Given the description of an element on the screen output the (x, y) to click on. 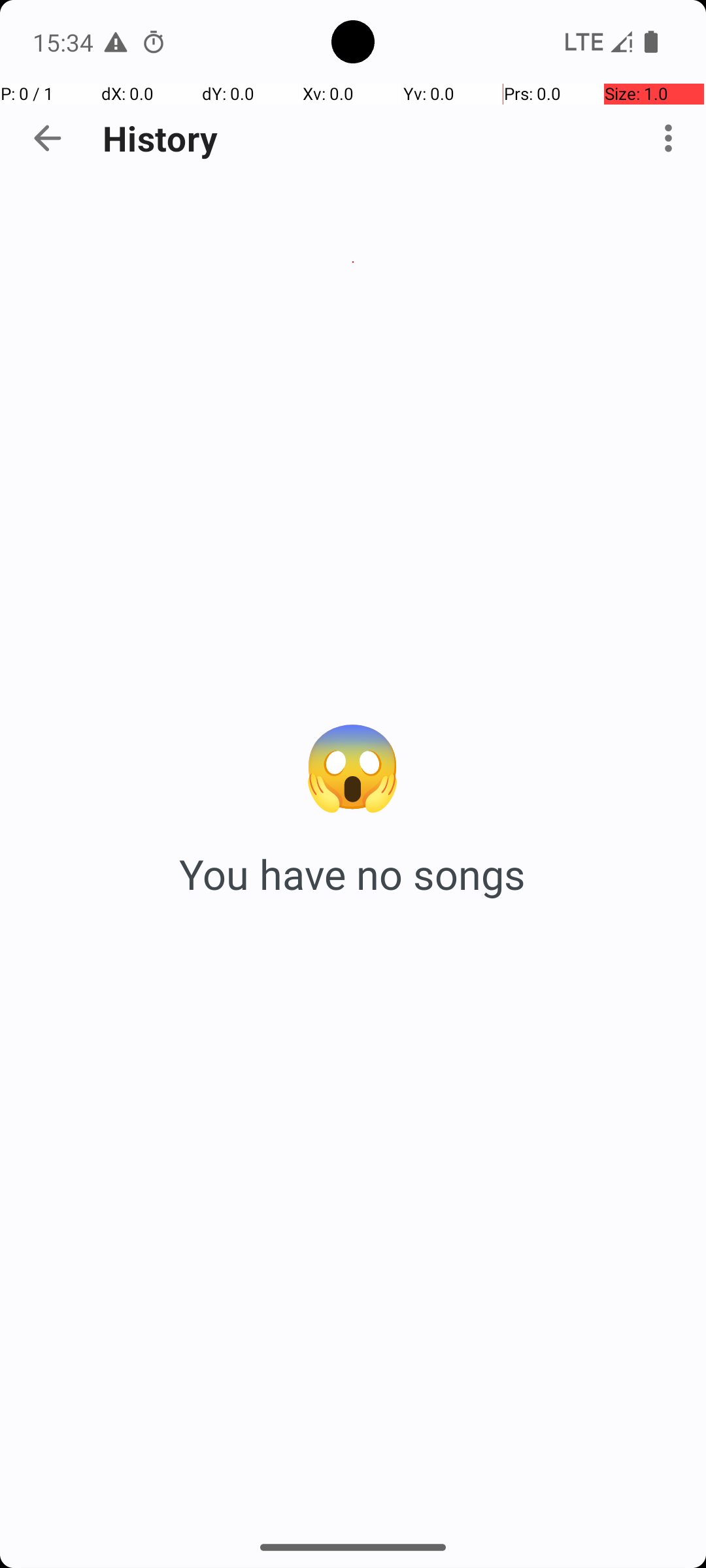
😱 Element type: android.widget.TextView (352, 763)
You have no songs Element type: android.widget.TextView (352, 873)
